Given the description of an element on the screen output the (x, y) to click on. 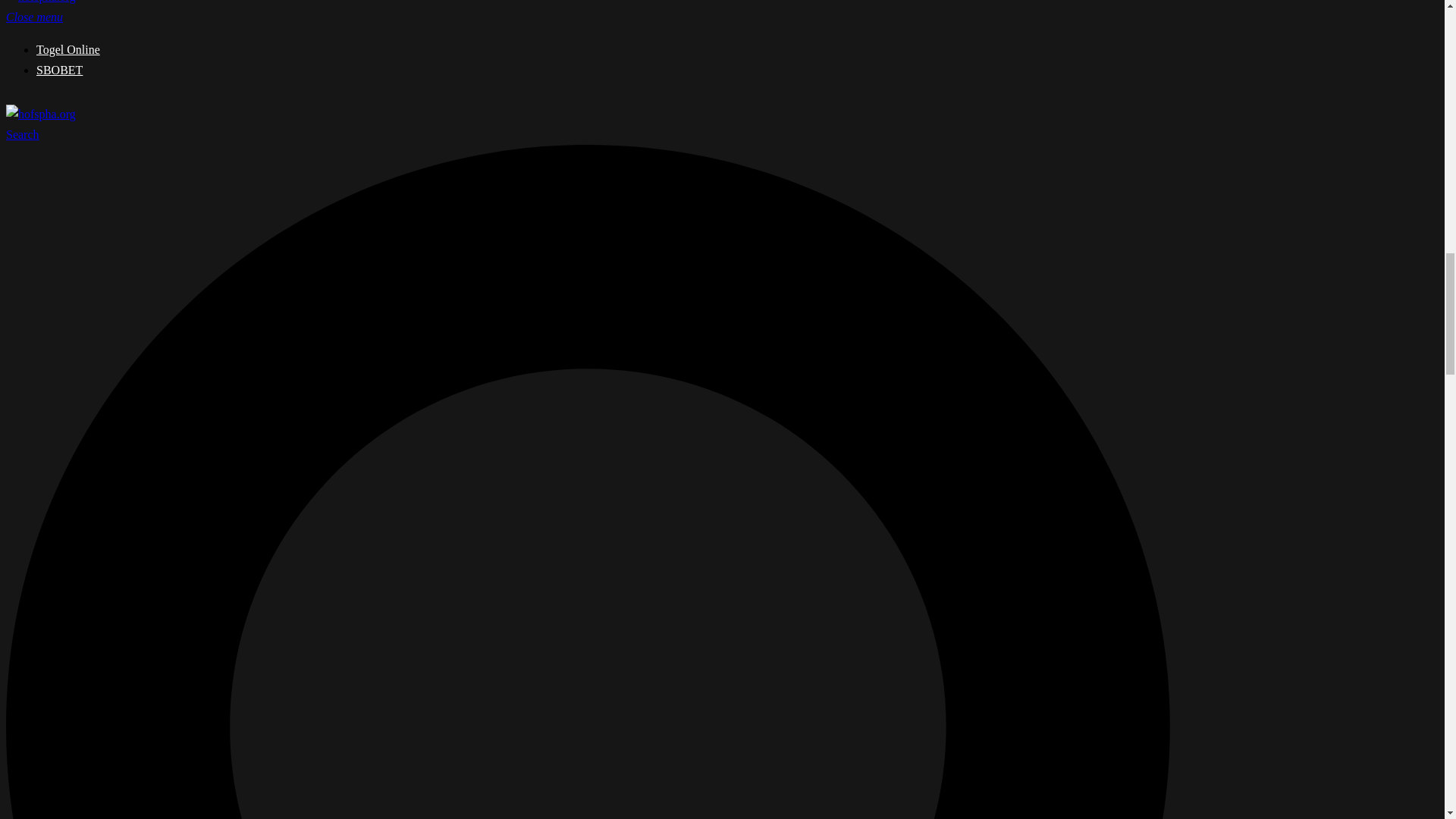
Togel Online (68, 49)
hofspha.org (40, 113)
hofspha.org (40, 1)
SBOBET (59, 70)
Close menu (40, 16)
